Given the description of an element on the screen output the (x, y) to click on. 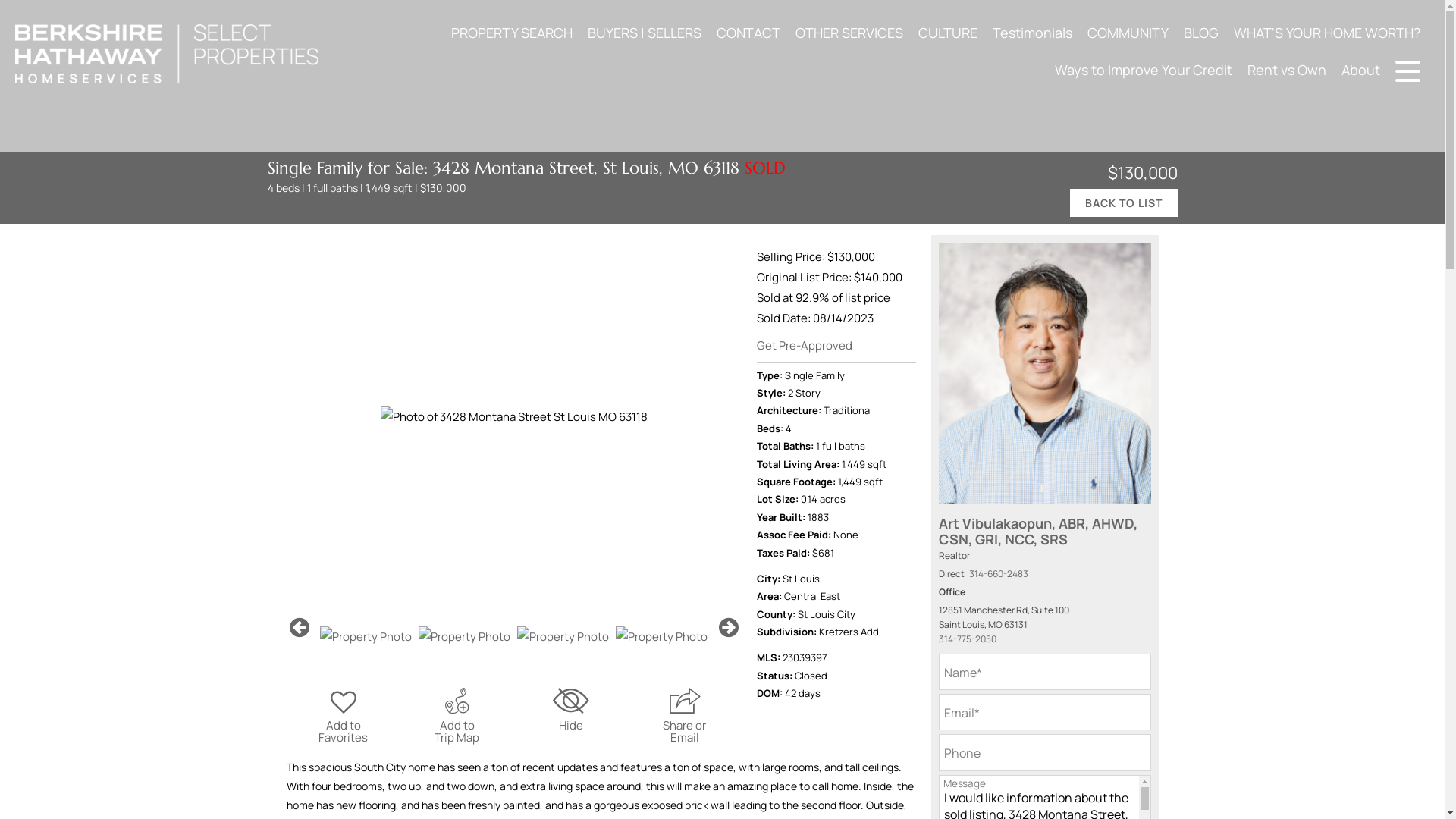
COMMUNITY (1128, 32)
Testimonials (1032, 32)
PROPERTY SEARCH (511, 32)
OTHER SERVICES (849, 32)
CONTACT (748, 32)
3428 Montana Street St Louis MO 63118 (513, 416)
CULTURE (948, 32)
